Given the description of an element on the screen output the (x, y) to click on. 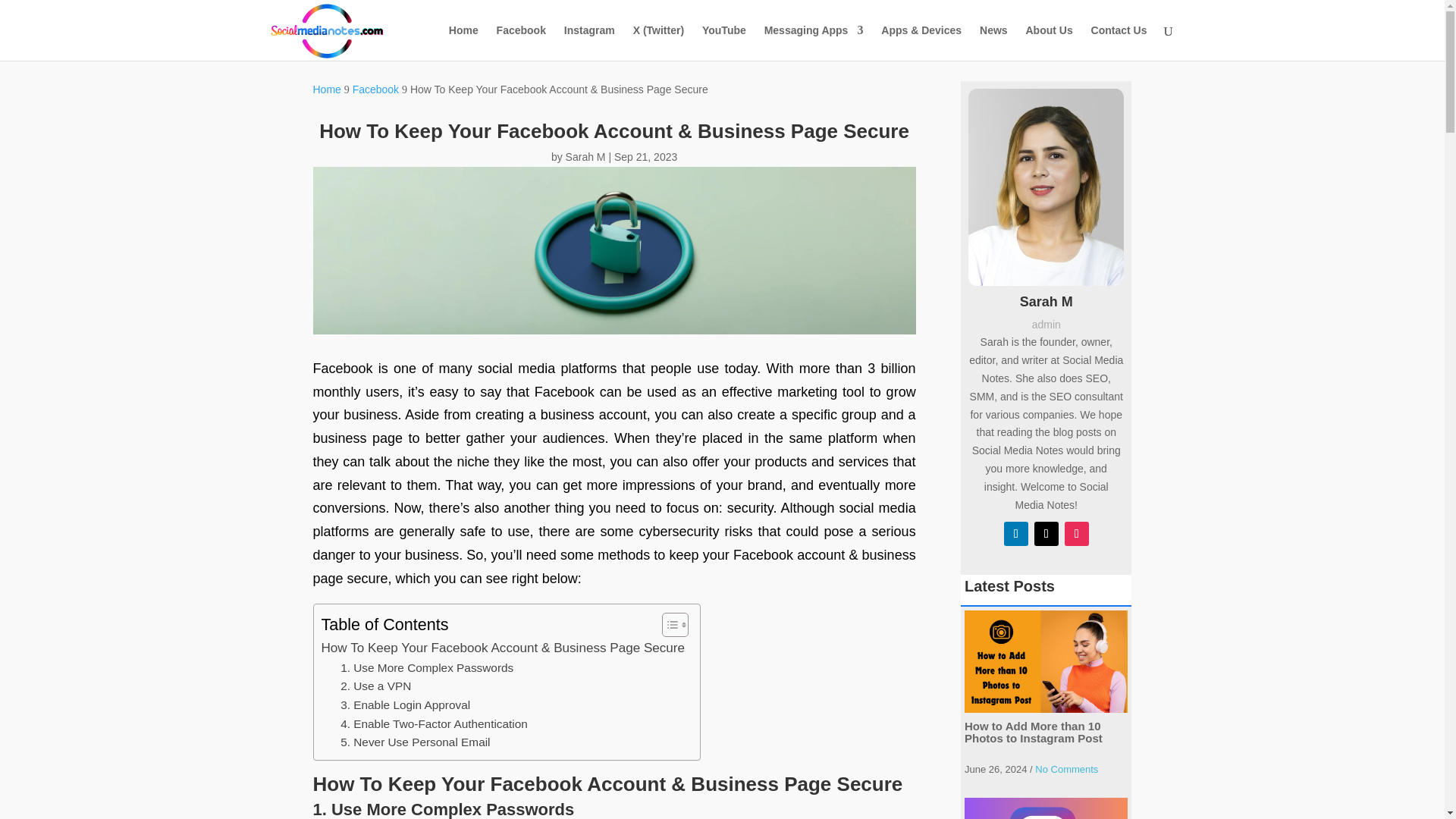
Posts by Sarah M (585, 156)
4. Enable Two-Factor Authentication (433, 723)
1. Use More Complex Passwords (426, 668)
2. Use a VPN (375, 686)
Facebook (521, 42)
5. Never Use Personal Email (414, 742)
2. Use a VPN (375, 686)
Messaging Apps (813, 42)
5. Never Use Personal Email (414, 742)
Facebook (375, 89)
3. Enable Login Approval (405, 705)
3. Enable Login Approval (405, 705)
4. Enable Two-Factor Authentication (433, 723)
YouTube (723, 42)
Sarah M (585, 156)
